Given the description of an element on the screen output the (x, y) to click on. 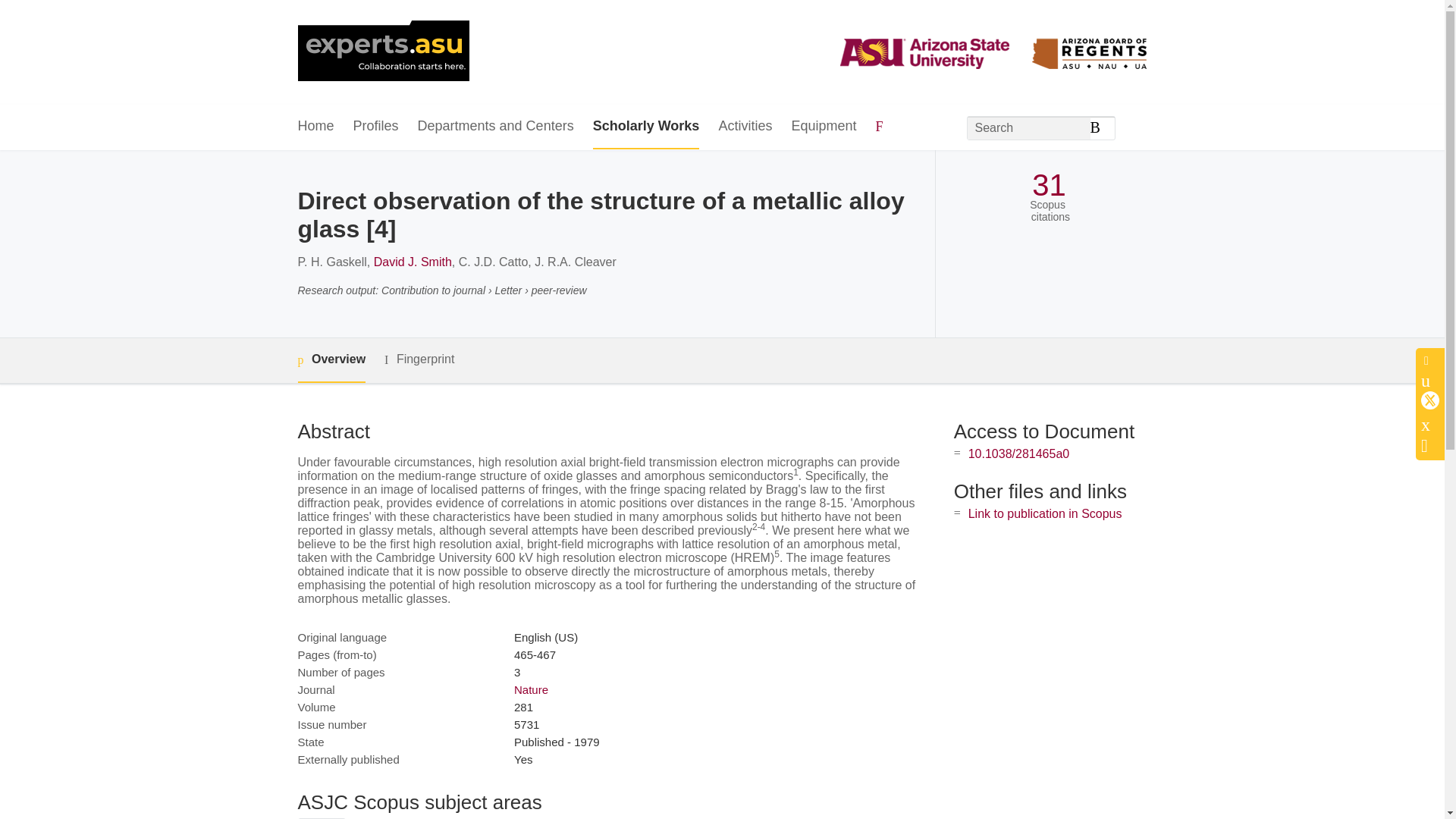
Arizona State University Home (382, 52)
Link to publication in Scopus (1045, 513)
David J. Smith (412, 261)
Home (315, 126)
Departments and Centers (495, 126)
Nature (530, 689)
Profiles (375, 126)
Equipment (823, 126)
Activities (744, 126)
31 (1048, 185)
Fingerprint (419, 359)
Scholarly Works (646, 126)
Overview (331, 360)
